Given the description of an element on the screen output the (x, y) to click on. 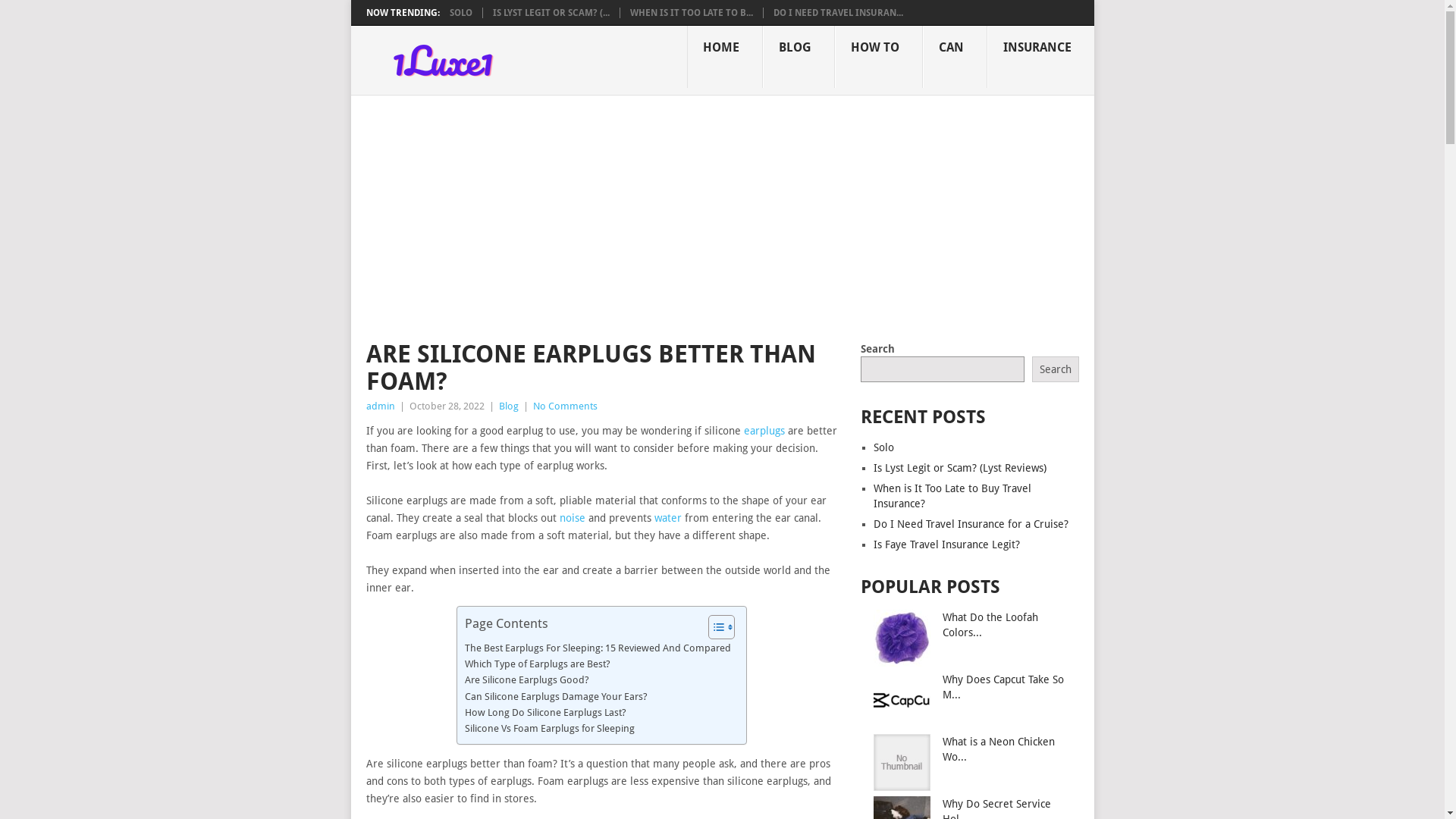
earplugs Element type: text (763, 430)
Are Silicone Earplugs Good? Element type: text (526, 679)
SOLO Element type: text (459, 12)
Solo Element type: text (883, 447)
Advertisement Element type: hover (721, 209)
HOW TO Element type: text (878, 56)
Is Lyst Legit or Scam? (Lyst Reviews) Element type: text (959, 467)
admin Element type: text (379, 405)
Is Faye Travel Insurance Legit? Element type: text (946, 544)
Which Type of Earplugs are Best? Element type: text (537, 663)
Silicone Vs Foam Earplugs for Sleeping Element type: text (549, 728)
HOME Element type: text (724, 56)
The Best Earplugs For Sleeping: 15 Reviewed And Compared Element type: text (597, 647)
INSURANCE Element type: text (1040, 56)
Why Does Capcut Take So M... Element type: text (1002, 686)
BLOG Element type: text (798, 56)
Can Silicone Earplugs Damage Your Ears? Element type: text (555, 696)
Search Element type: text (1055, 369)
WHEN IS IT TOO LATE TO B... Element type: text (690, 12)
CAN Element type: text (954, 56)
Blog Element type: text (508, 405)
DO I NEED TRAVEL INSURAN... Element type: text (838, 12)
No Comments Element type: text (564, 405)
How Long Do Silicone Earplugs Last? Element type: text (545, 712)
IS LYST LEGIT OR SCAM? (... Element type: text (550, 12)
When is It Too Late to Buy Travel Insurance? Element type: text (952, 495)
What Do the Loofah Colors... Element type: text (990, 624)
Do I Need Travel Insurance for a Cruise? Element type: text (970, 523)
What is a Neon Chicken Wo... Element type: text (998, 748)
noise Element type: text (572, 517)
water Element type: text (666, 517)
